Given the description of an element on the screen output the (x, y) to click on. 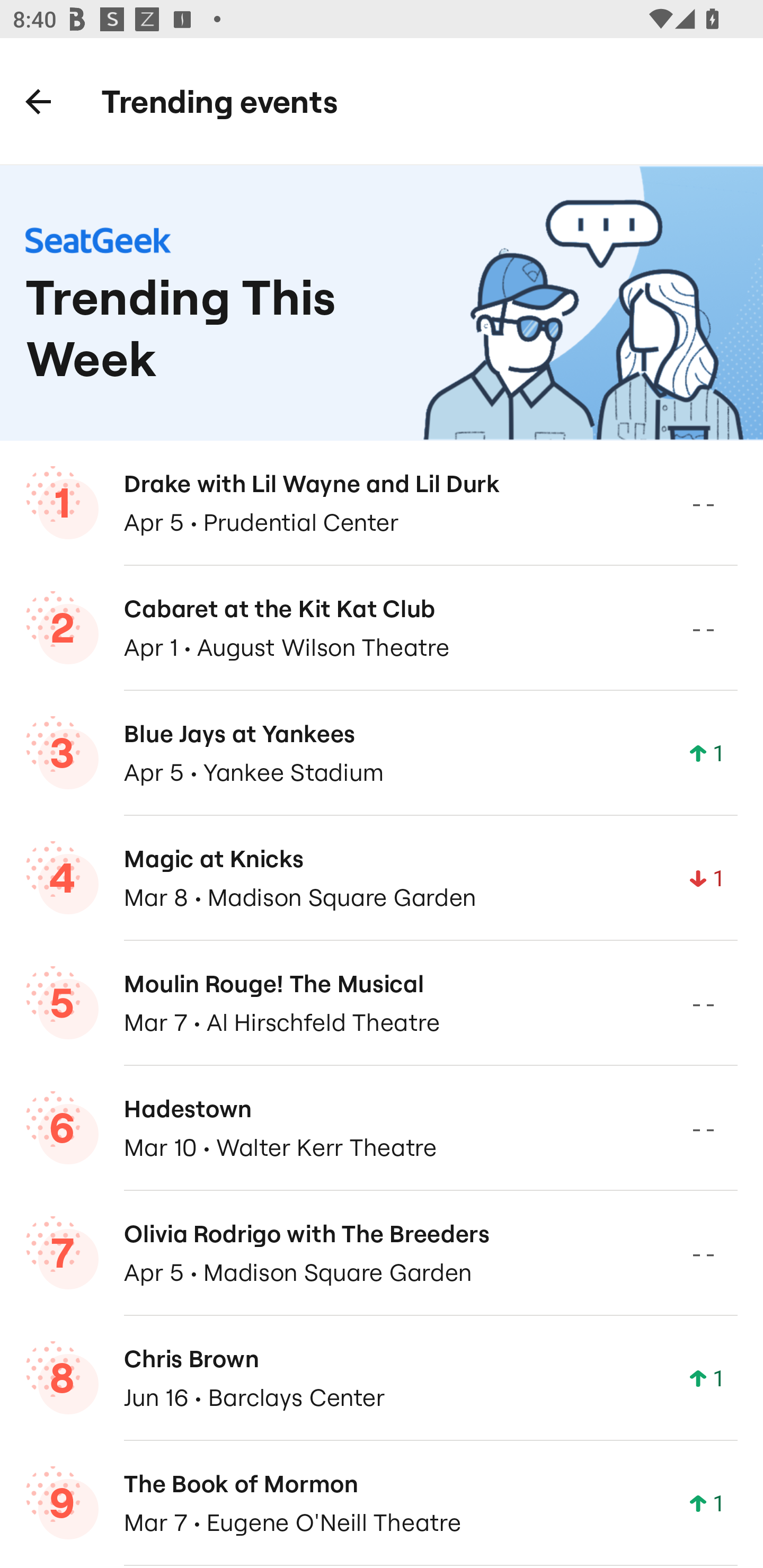
Back (38, 100)
